Given the description of an element on the screen output the (x, y) to click on. 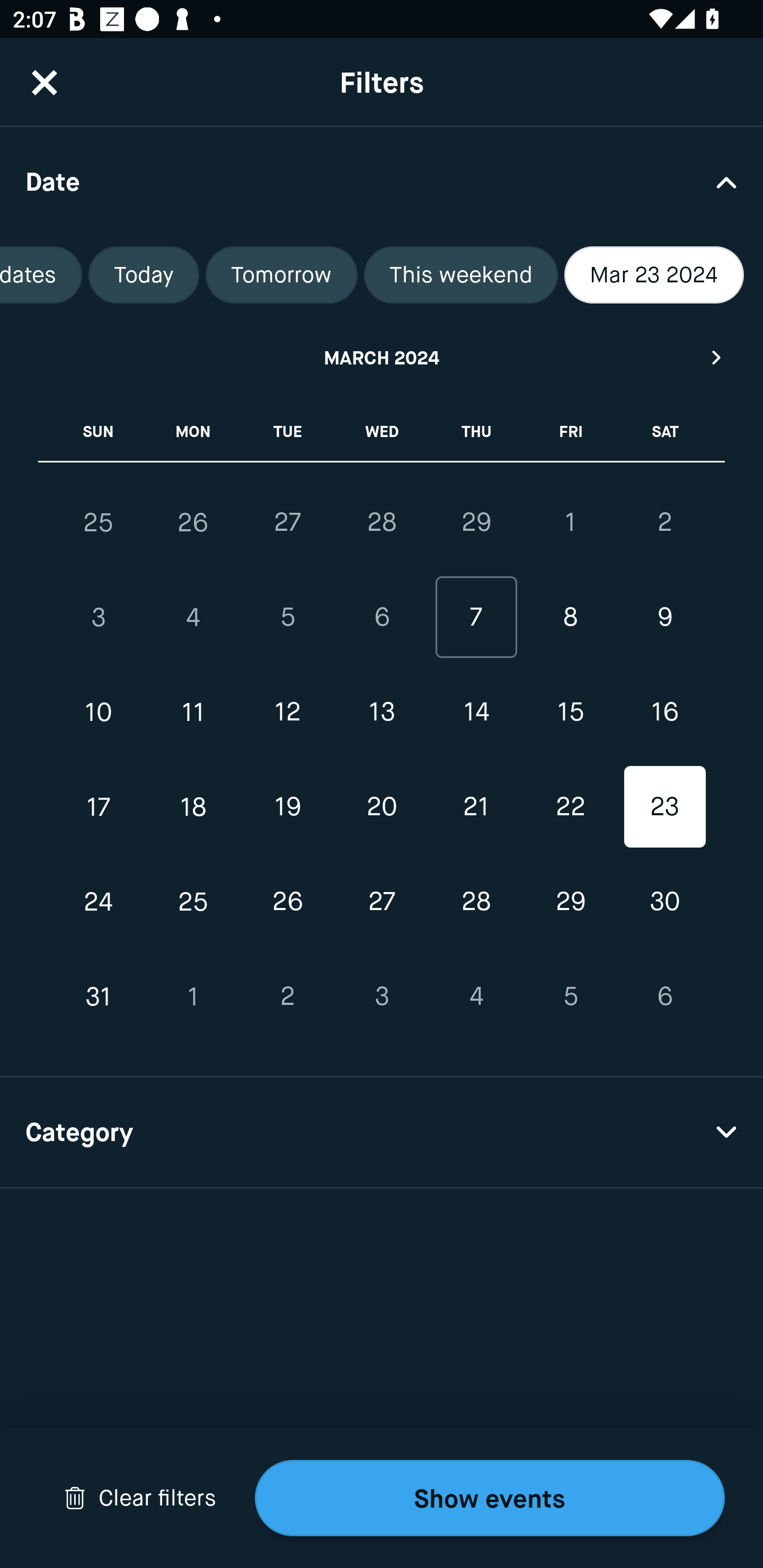
CloseButton (44, 82)
Date Drop Down Arrow (381, 181)
Today (143, 274)
Tomorrow (281, 274)
This weekend (460, 274)
Mar 23 2024 (653, 274)
Next (717, 357)
25 (98, 522)
26 (192, 522)
27 (287, 522)
28 (381, 522)
29 (475, 522)
1 (570, 522)
2 (664, 522)
3 (98, 617)
4 (192, 617)
5 (287, 617)
6 (381, 617)
7 (475, 617)
8 (570, 617)
9 (664, 617)
10 (98, 711)
11 (192, 711)
12 (287, 711)
13 (381, 711)
14 (475, 711)
15 (570, 711)
16 (664, 711)
17 (98, 806)
18 (192, 806)
19 (287, 806)
20 (381, 806)
21 (475, 806)
22 (570, 806)
23 (664, 806)
24 (98, 901)
25 (192, 901)
26 (287, 901)
27 (381, 901)
28 (475, 901)
29 (570, 901)
30 (664, 901)
31 (98, 996)
1 (192, 996)
2 (287, 996)
3 (381, 996)
4 (475, 996)
5 (570, 996)
6 (664, 996)
Category Drop Down Arrow (381, 1132)
Drop Down Arrow Clear filters (139, 1497)
Show events (489, 1497)
